Given the description of an element on the screen output the (x, y) to click on. 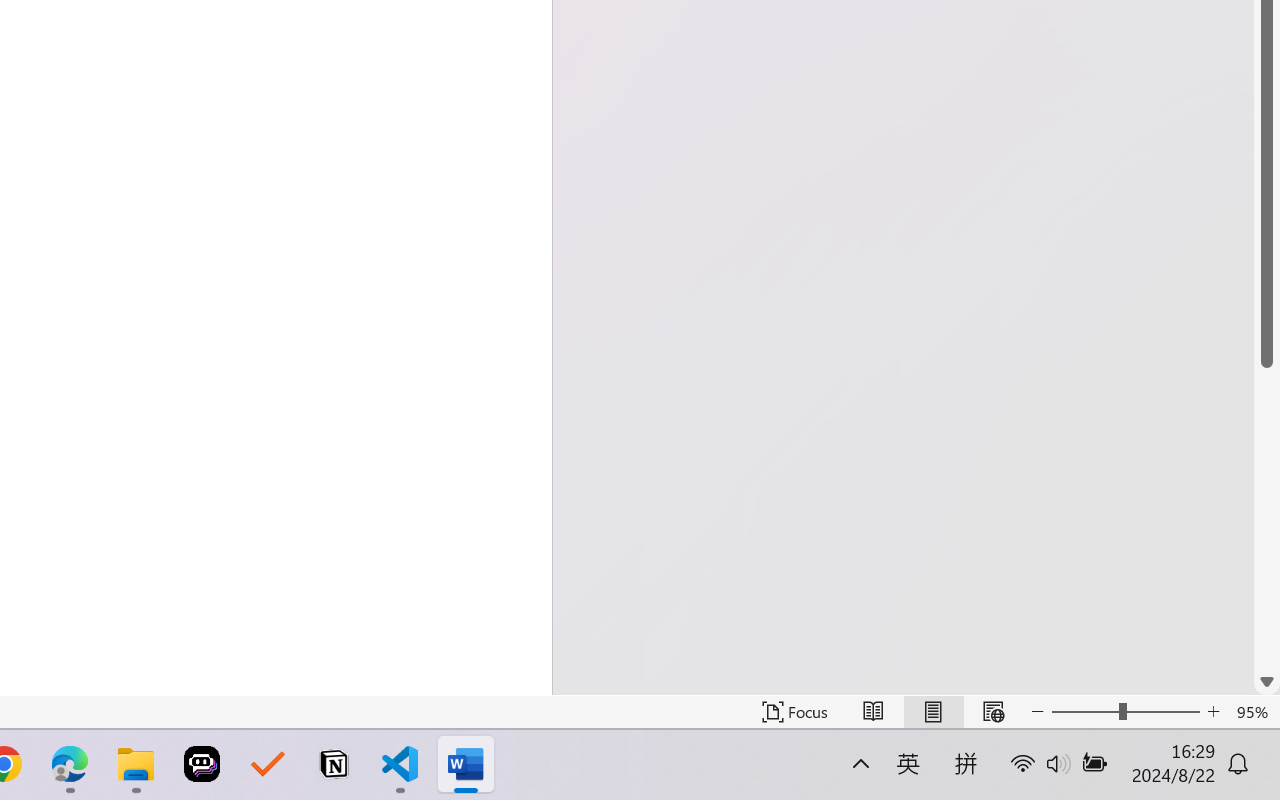
Zoom 95% (1253, 712)
Page down (1267, 518)
Line down (1267, 681)
